Given the description of an element on the screen output the (x, y) to click on. 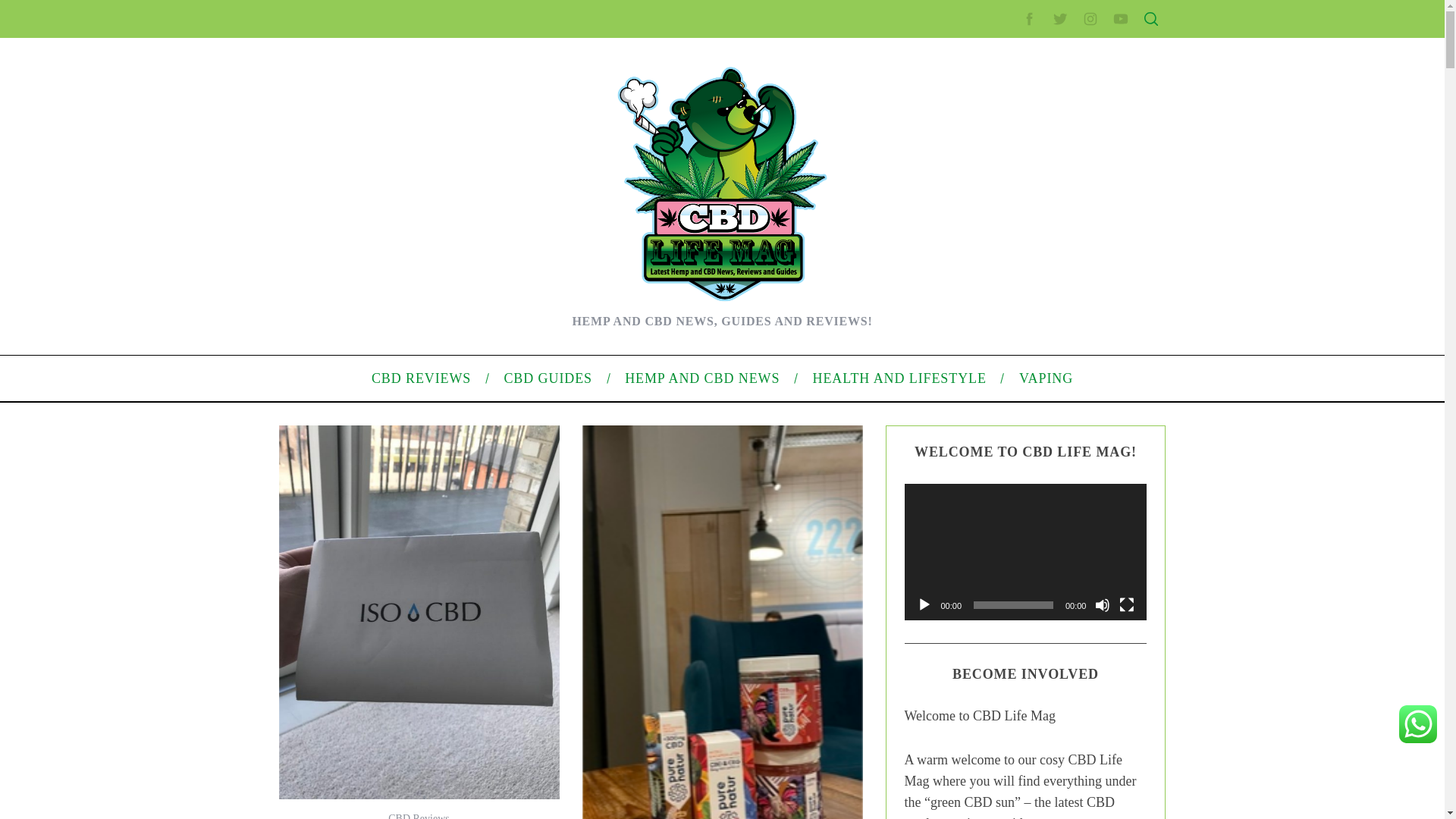
Skip to content (34, 9)
Search for: (1049, 47)
Search (1050, 85)
Latest Article (996, 172)
Am Joy (339, 514)
DMCA Policy (996, 282)
Joy On Demand: The Art Of Discovering The Happiness Within (469, 273)
Log in (980, 588)
December 2020 (1004, 432)
Blog (976, 510)
Customer Reviews (365, 322)
Books (336, 418)
The Dark Yorkshire Series: Books 4 To 6 (416, 250)
Privacy Policy (999, 306)
